Given the description of an element on the screen output the (x, y) to click on. 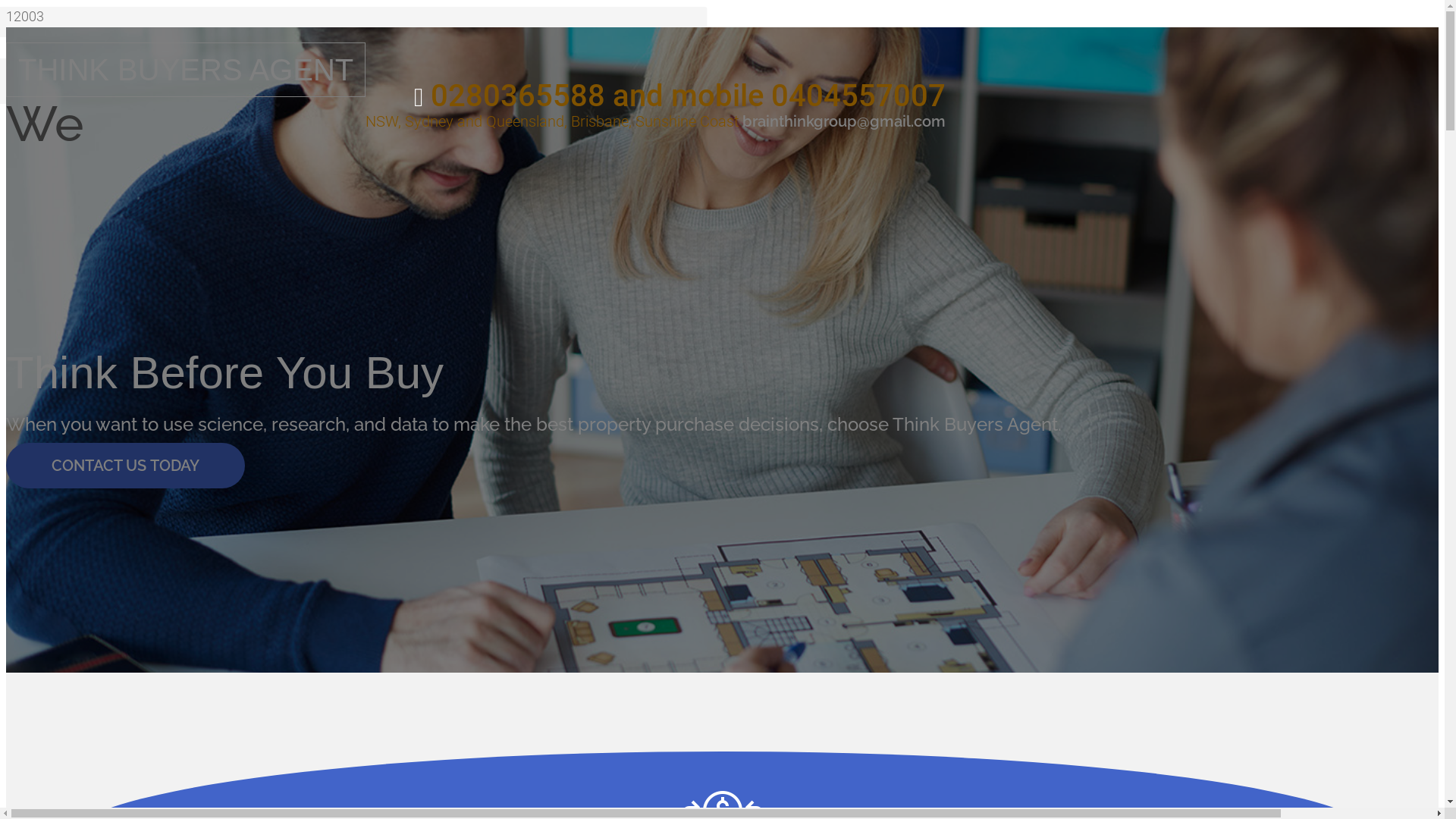
CONTACT US TODAY Element type: text (125, 465)
brainthinkgroup@gmail.com Element type: text (843, 121)
